Given the description of an element on the screen output the (x, y) to click on. 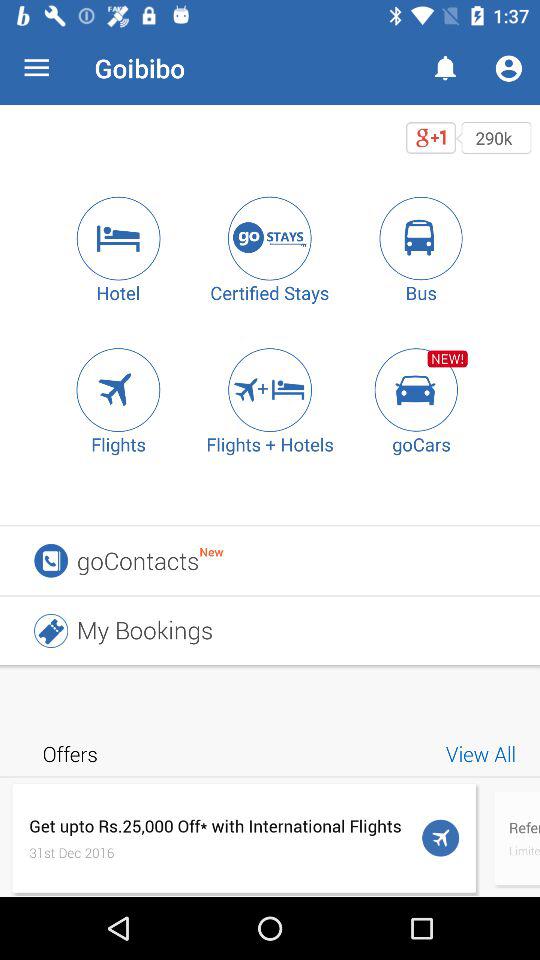
turn off the icon next to the flights + hotels (421, 389)
